Given the description of an element on the screen output the (x, y) to click on. 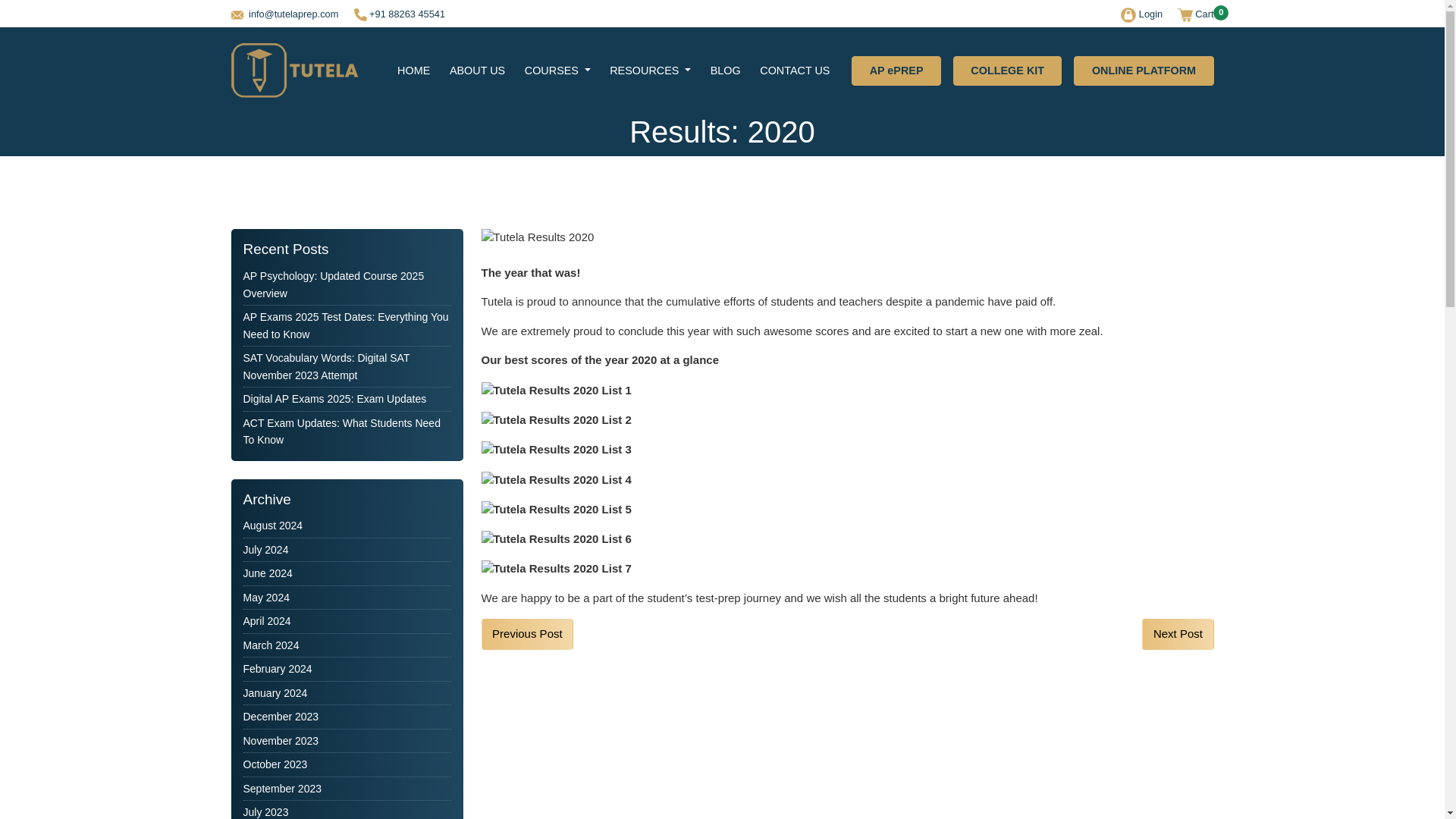
ABOUT US (477, 70)
AP Psychology: Updated Course 2025 Overview (333, 284)
HOME (413, 70)
SAT Vocabulary Words: Digital SAT November 2023 Attempt (326, 366)
BLOG (725, 70)
AP ePREP (895, 71)
Digital AP Exams 2025: Exam Updates (334, 398)
ACT Exam Updates: What Students Need To Know (341, 431)
AP Exams 2025 Test Dates: Everything You Need to Know (345, 325)
August 2024 (272, 525)
